Given the description of an element on the screen output the (x, y) to click on. 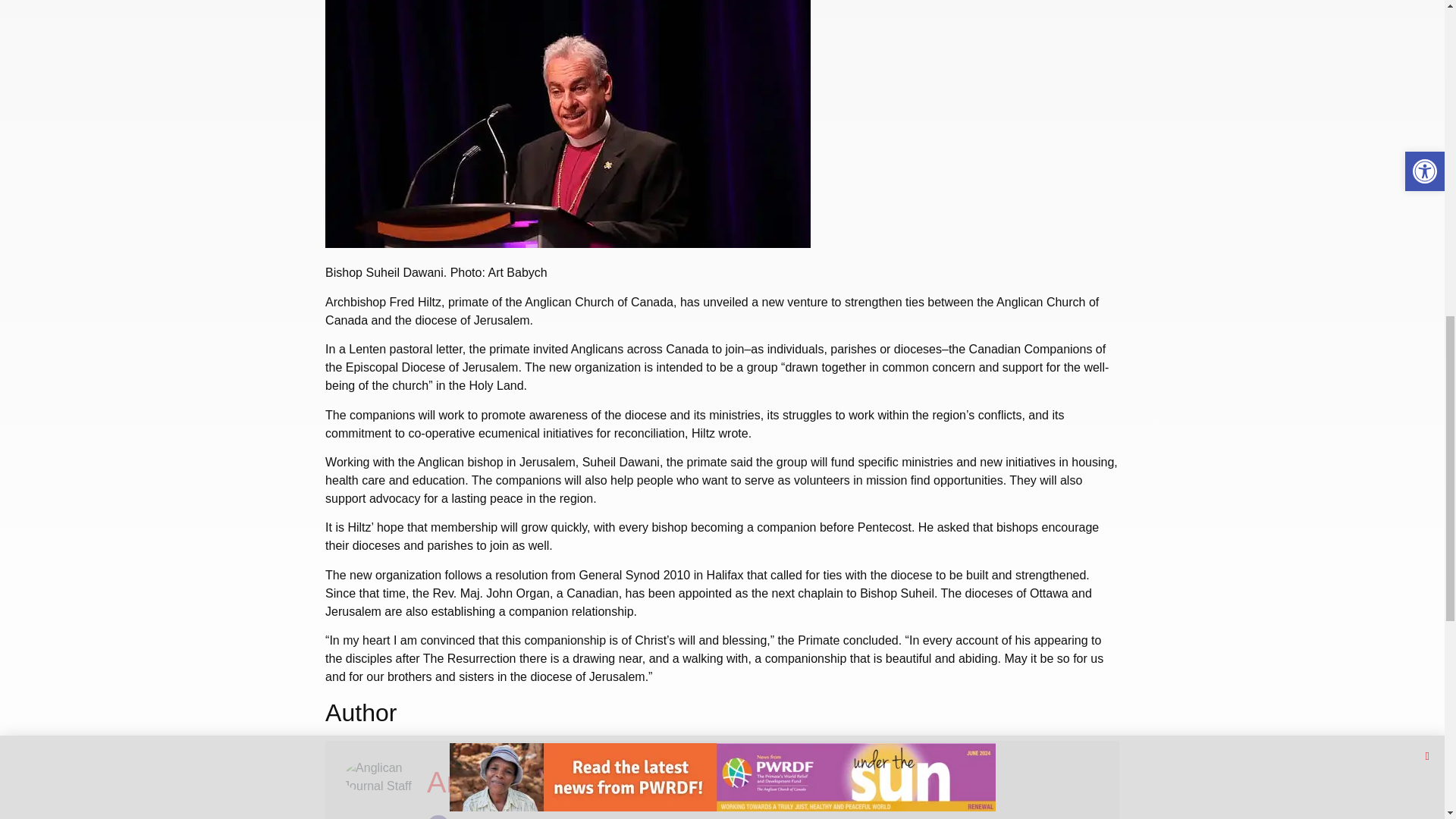
Anglican Journal Staff (568, 781)
